Given the description of an element on the screen output the (x, y) to click on. 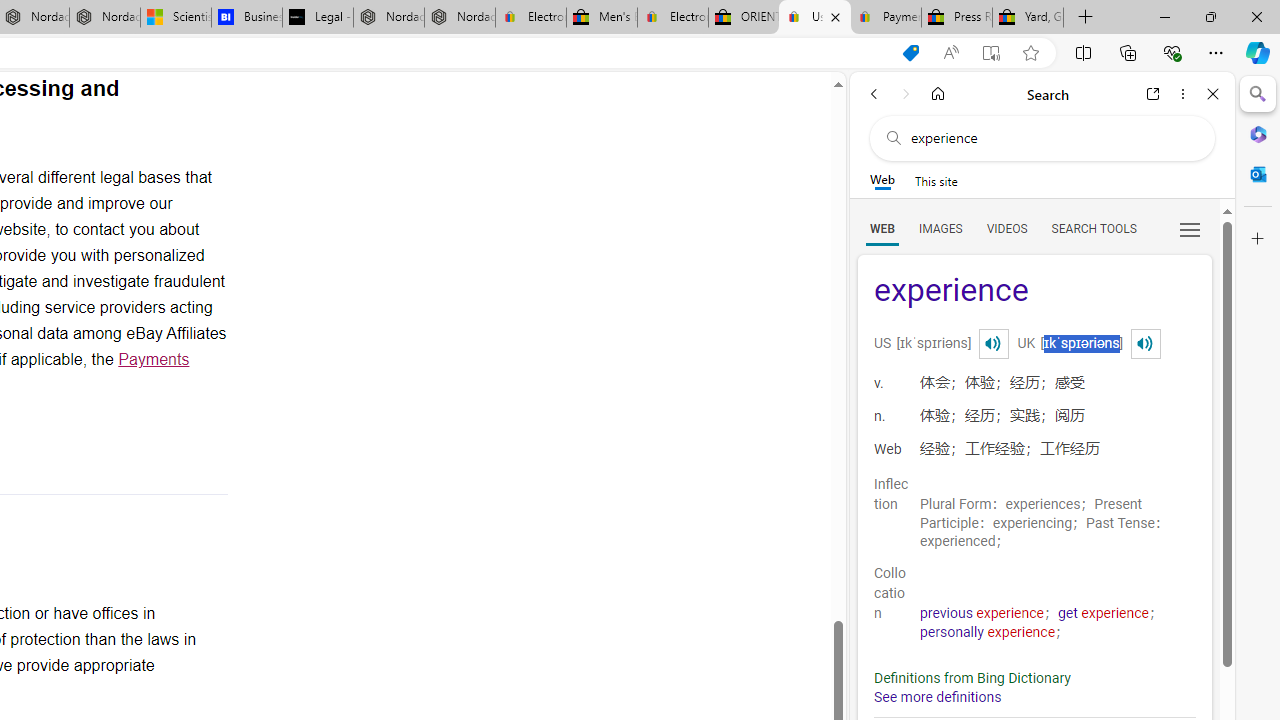
Search the web (1051, 137)
previous experience (982, 613)
This site scope (936, 180)
VIDEOS (1006, 228)
User Privacy Notice | eBay (814, 17)
experience (1034, 291)
Search Filter, IMAGES (939, 228)
IMAGES (939, 228)
